Given the description of an element on the screen output the (x, y) to click on. 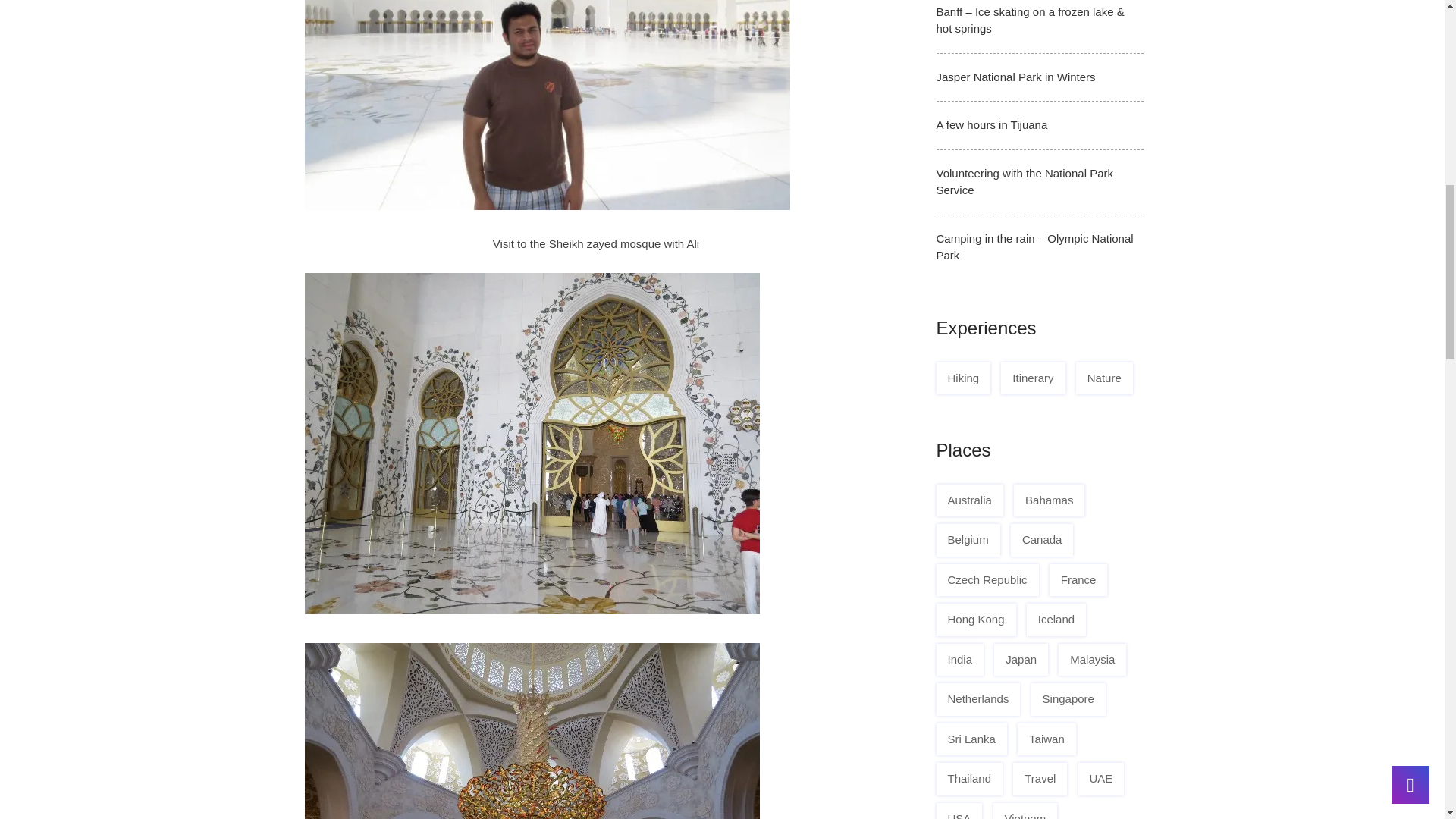
Vietnam (1025, 811)
Travel (1040, 778)
A few hours in Tijuana (991, 124)
Thailand (969, 778)
Japan (1021, 659)
USA (958, 811)
Singapore (1067, 699)
Belgium (967, 540)
Netherlands (978, 699)
Itinerary (1032, 378)
